Given the description of an element on the screen output the (x, y) to click on. 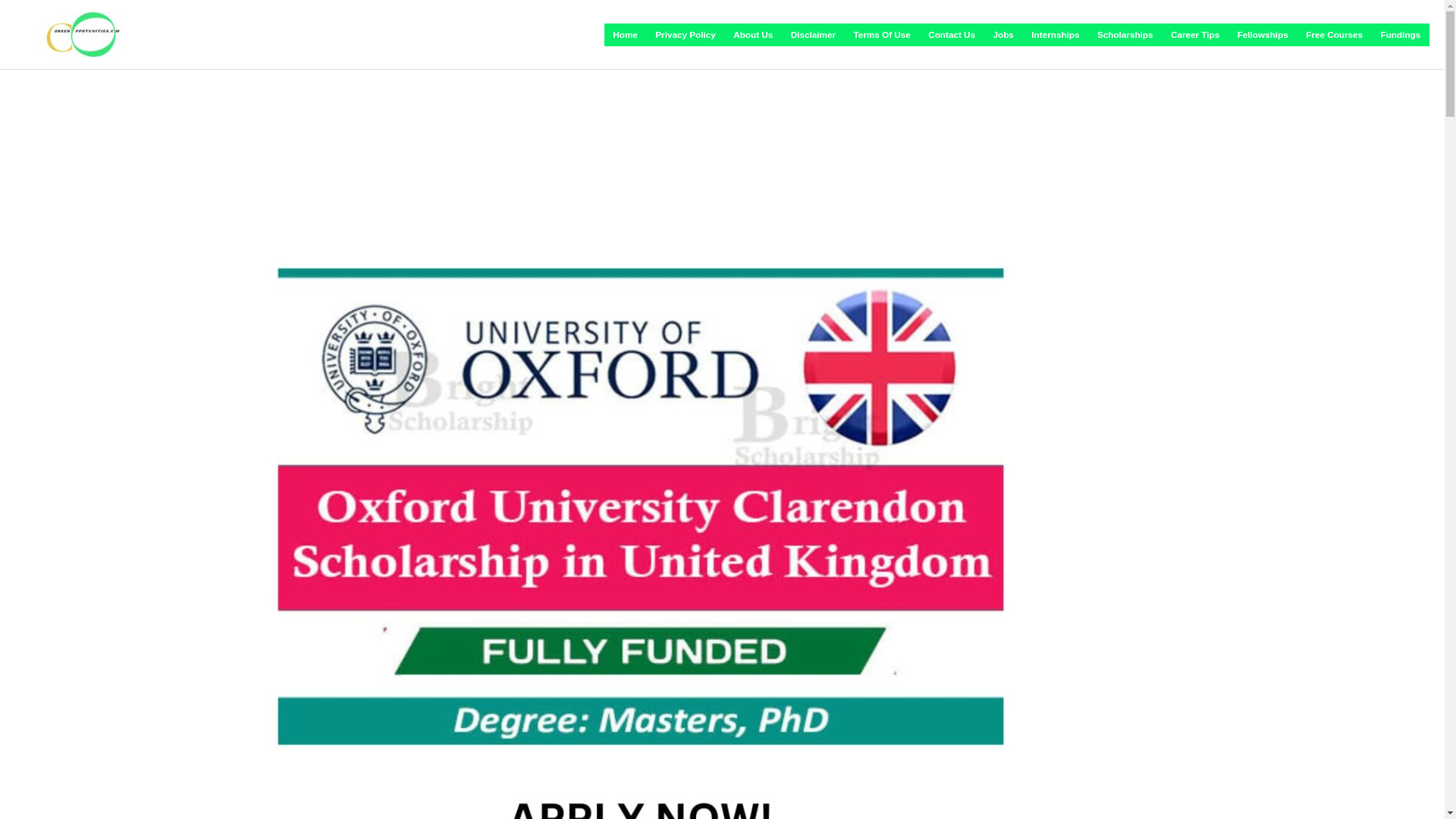
Terms Of Use (882, 34)
About Us (754, 34)
Free Courses (1334, 34)
Contact Us (952, 34)
Scholarships (1124, 34)
Jobs (1003, 34)
Career Tips (1194, 34)
Home (625, 34)
Privacy Policy (685, 34)
Disclaimer (812, 34)
Internships (1056, 34)
Fellowships (1262, 34)
Fundings (1400, 34)
